Given the description of an element on the screen output the (x, y) to click on. 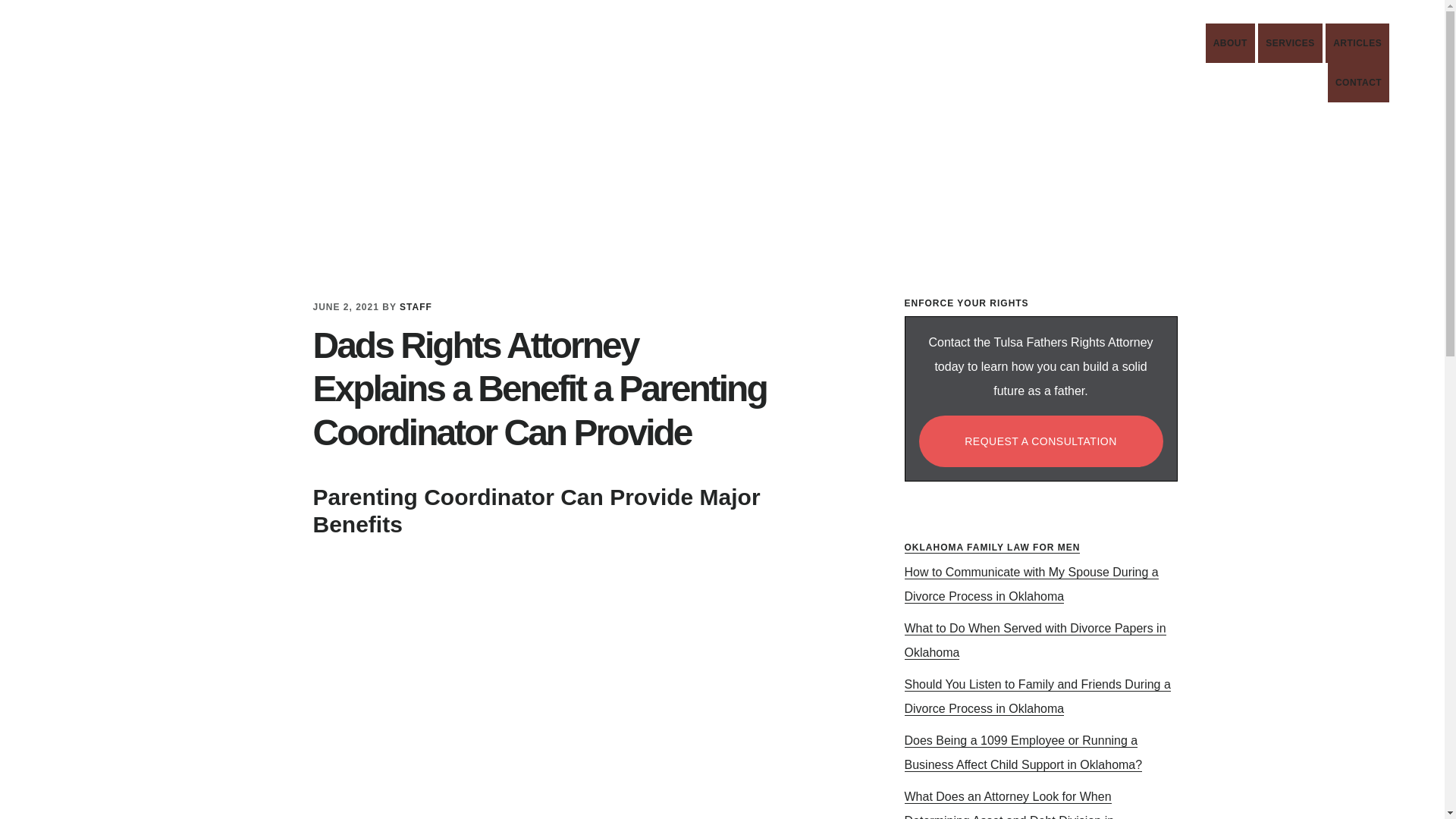
OKLAHOMA FAMILY LAW FOR MEN (992, 547)
REQUEST A CONSULTATION (1040, 440)
ABOUT (230, 71)
CONTACT (1230, 43)
STAFF (1358, 82)
Skip to main content (415, 307)
YouTube video player (1289, 43)
ARTICLES (562, 672)
